Given the description of an element on the screen output the (x, y) to click on. 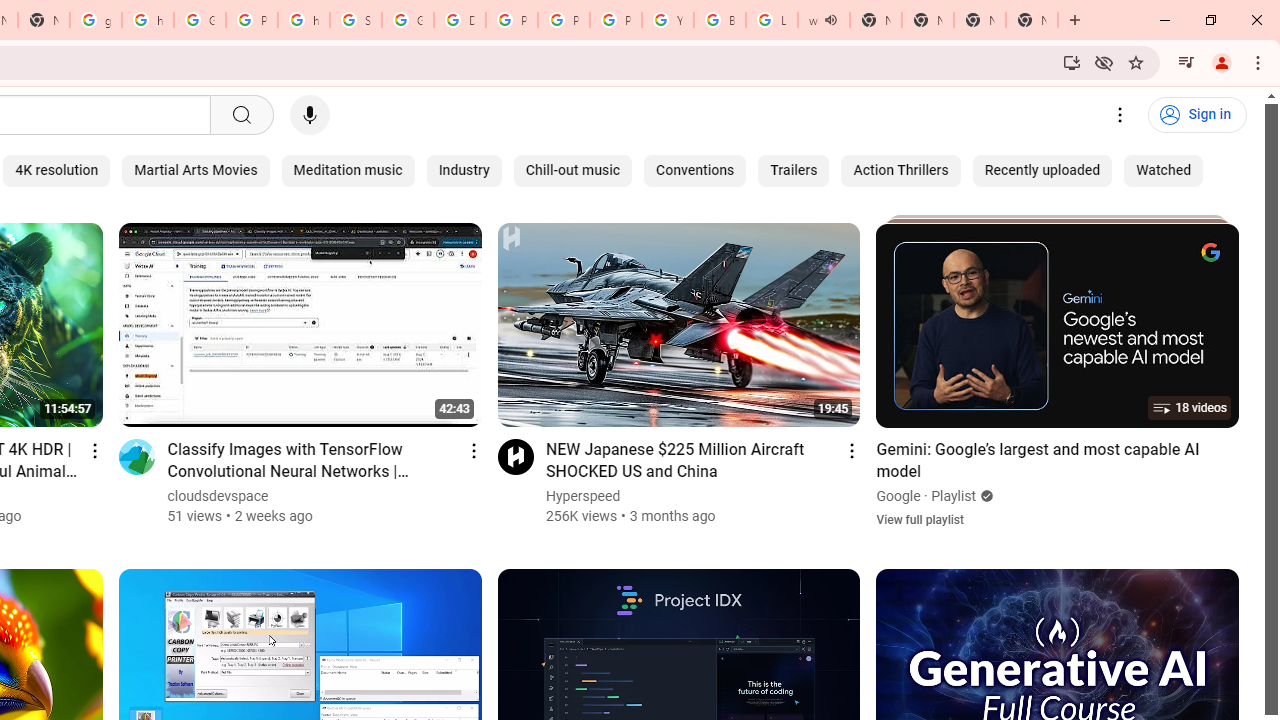
Privacy Help Center - Policies Help (511, 20)
cloudsdevspace (218, 496)
Browse Chrome as a guest - Computer - Google Chrome Help (719, 20)
YouTube (667, 20)
Settings (1119, 115)
4K resolution (56, 170)
Chill-out music (573, 170)
